Given the description of an element on the screen output the (x, y) to click on. 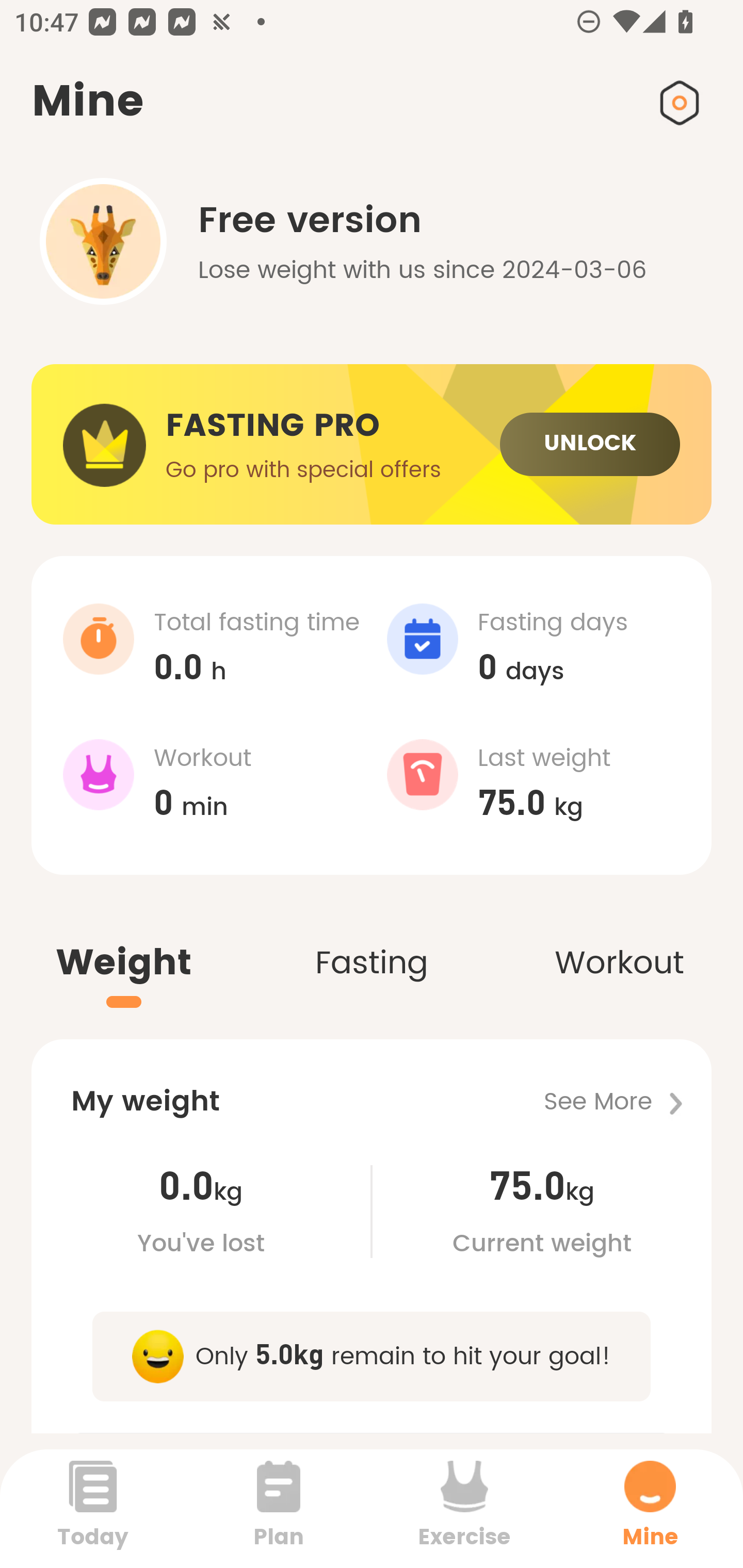
FASTING PRO Go pro with special offers UNLOCK (371, 444)
Fasting (371, 941)
Workout (619, 941)
See More (627, 1101)
Today (92, 1508)
Plan (278, 1508)
Exercise (464, 1508)
